Given the description of an element on the screen output the (x, y) to click on. 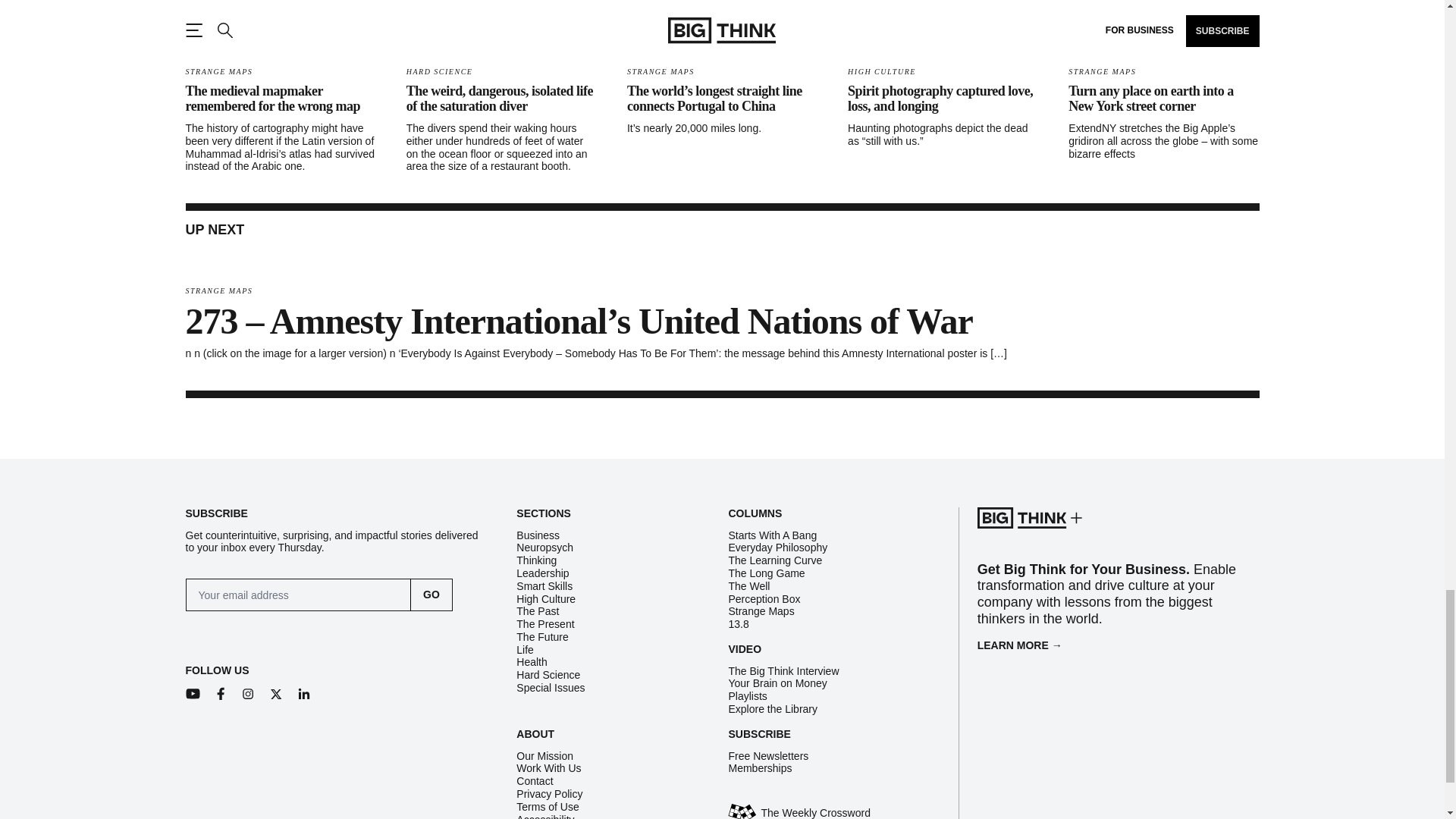
Go (431, 594)
